Given the description of an element on the screen output the (x, y) to click on. 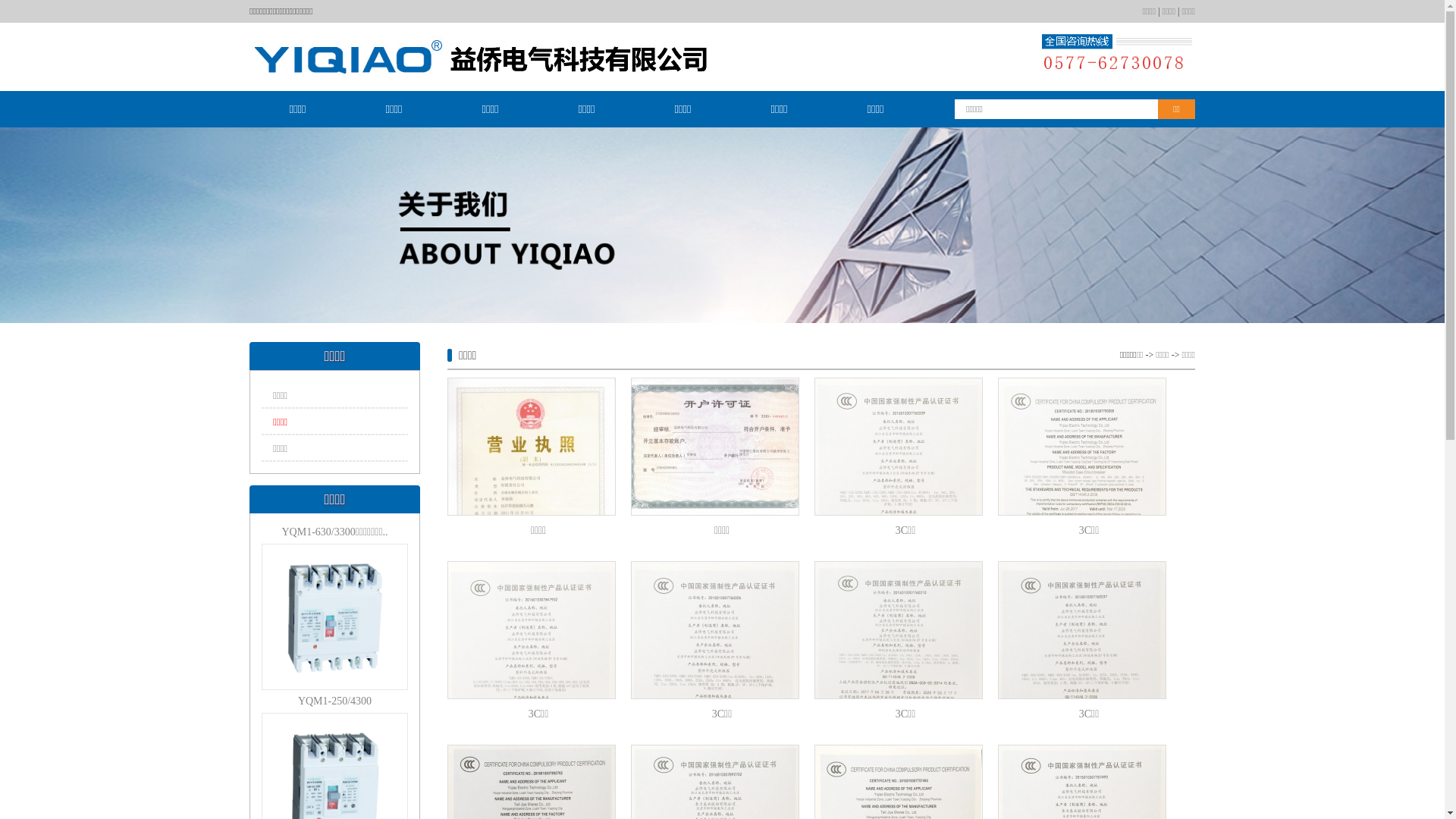
YQM1-250/4300 Element type: text (334, 696)
